Given the description of an element on the screen output the (x, y) to click on. 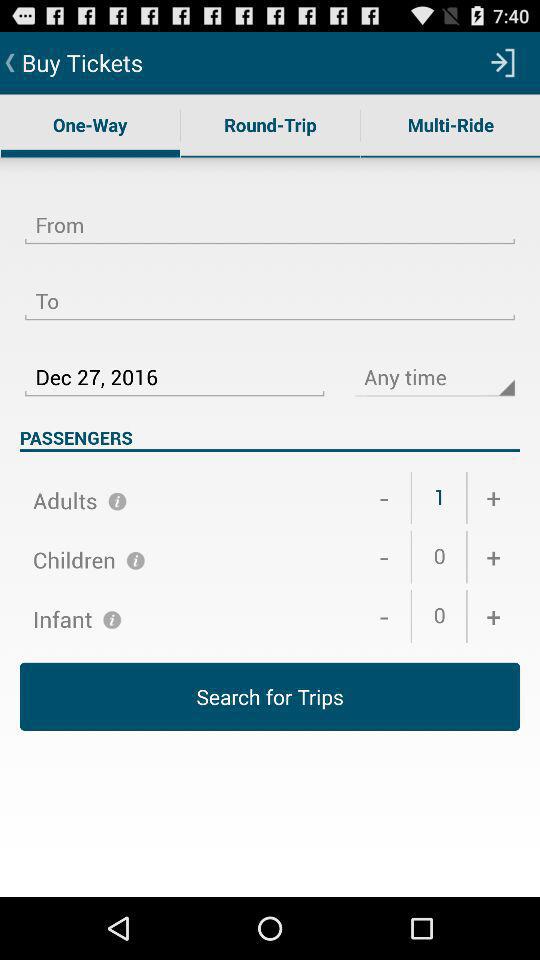
open the app below one-way (269, 213)
